Given the description of an element on the screen output the (x, y) to click on. 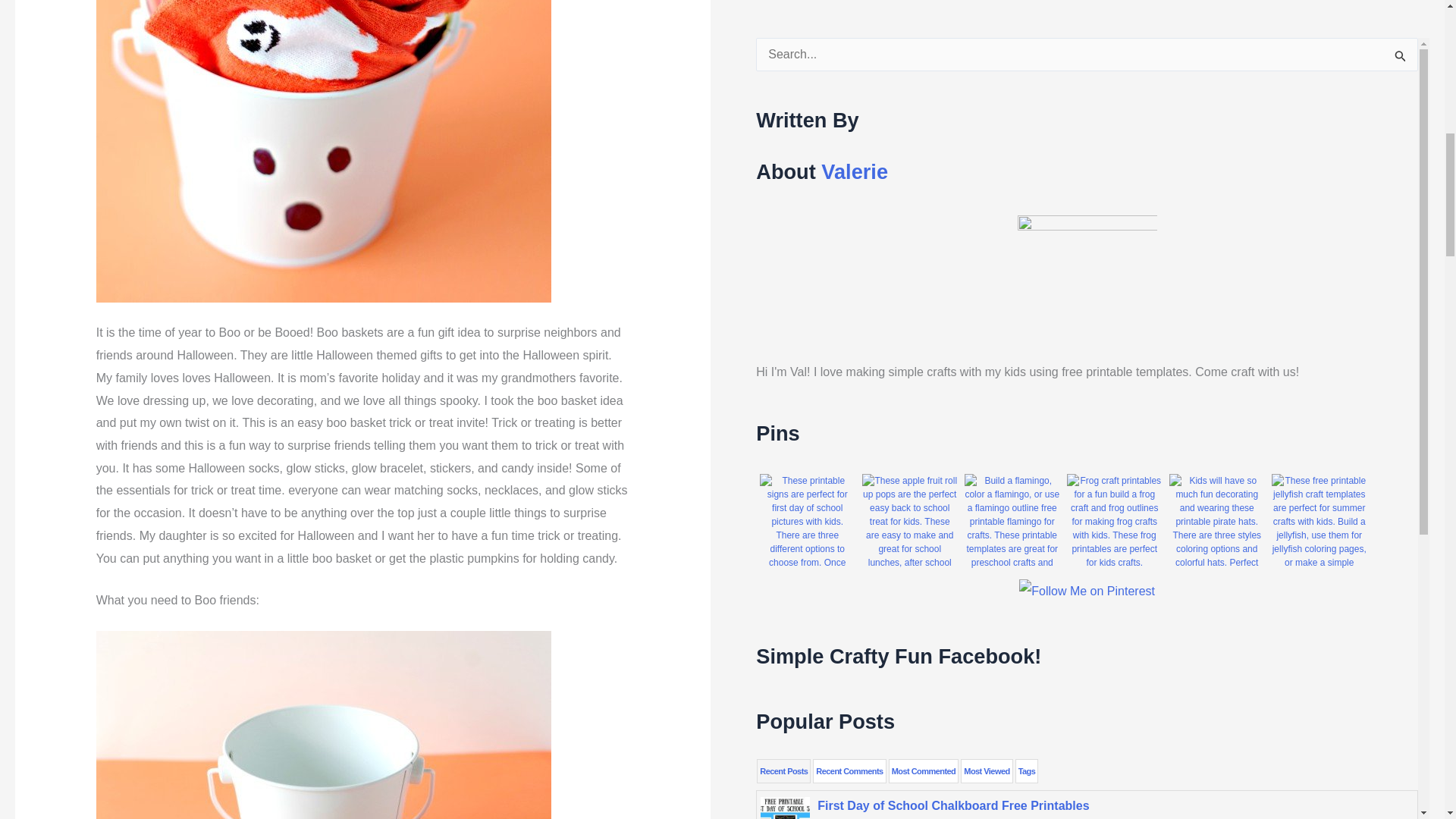
Follow Me on Pinterest (1086, 19)
